Given the description of an element on the screen output the (x, y) to click on. 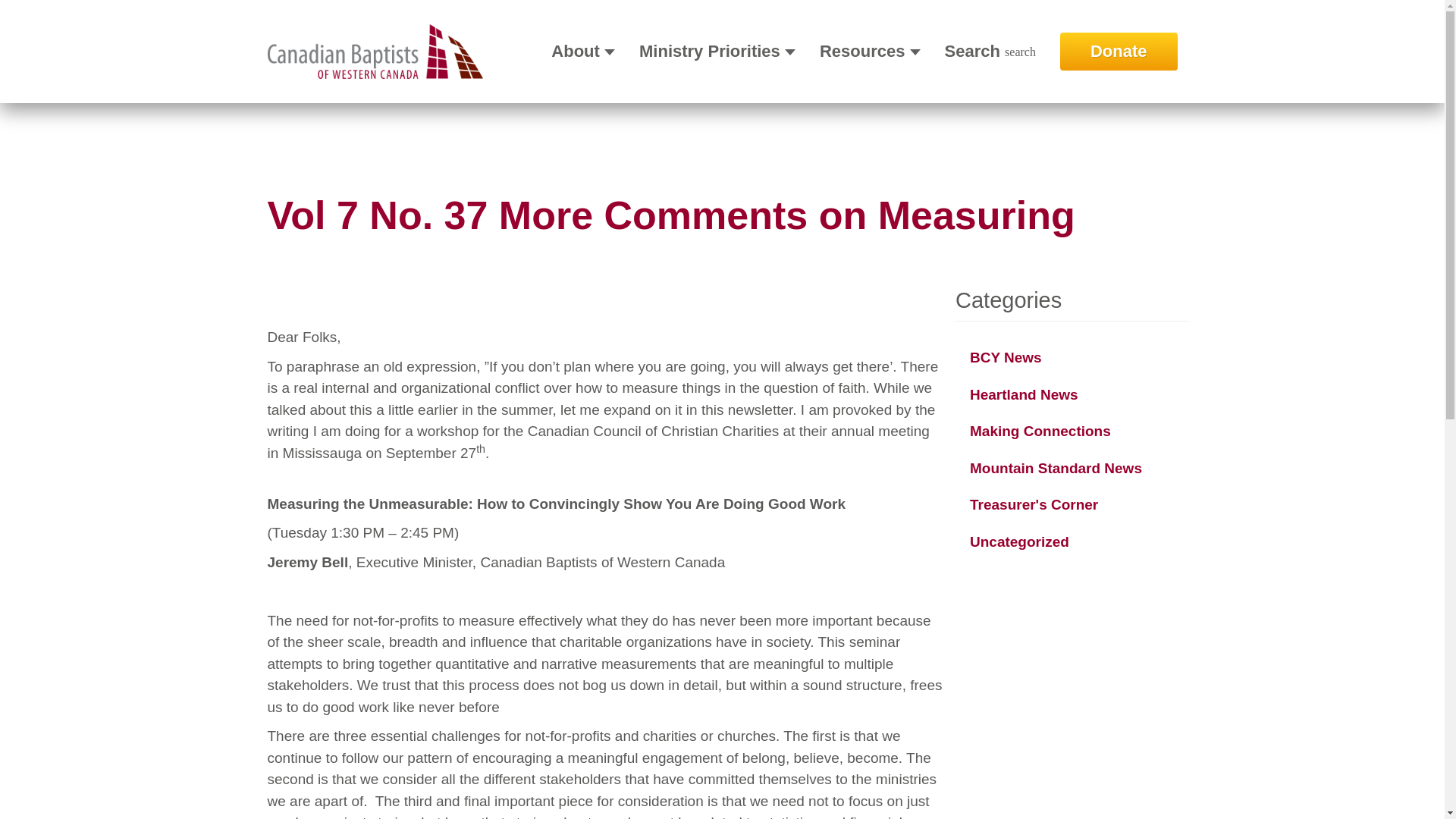
About (582, 51)
Search search (989, 51)
Ministry Priorities (716, 51)
Ministry Priorities (716, 51)
Resources (869, 51)
Heartland News (1023, 394)
BCY News (1005, 357)
Making Connections (1039, 430)
Uncategorized (1018, 541)
Donate (1118, 51)
Resources (869, 51)
Mountain Standard News (1055, 467)
Treasurer's Corner (1033, 504)
About (582, 51)
